Given the description of an element on the screen output the (x, y) to click on. 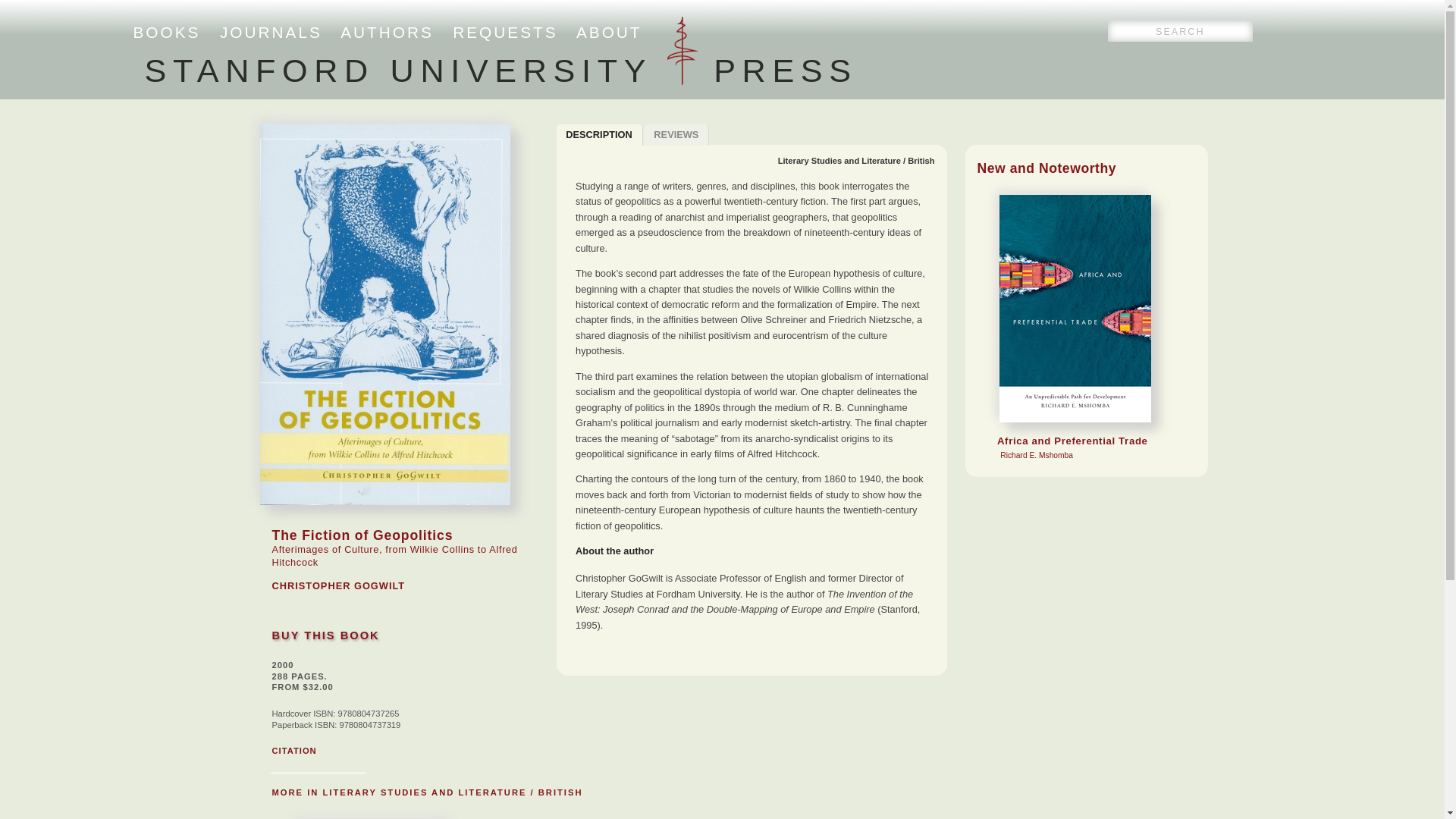
New and Noteworthy (1046, 168)
CITATION (292, 750)
STANFORD UNIVERSITY PRESS (500, 70)
AUTHORS (386, 31)
BUY THIS BOOK (324, 635)
DESCRIPTION (599, 134)
BOOKS (166, 31)
REVIEWS (677, 134)
ABOUT (609, 31)
JOURNALS (270, 31)
